Given the description of an element on the screen output the (x, y) to click on. 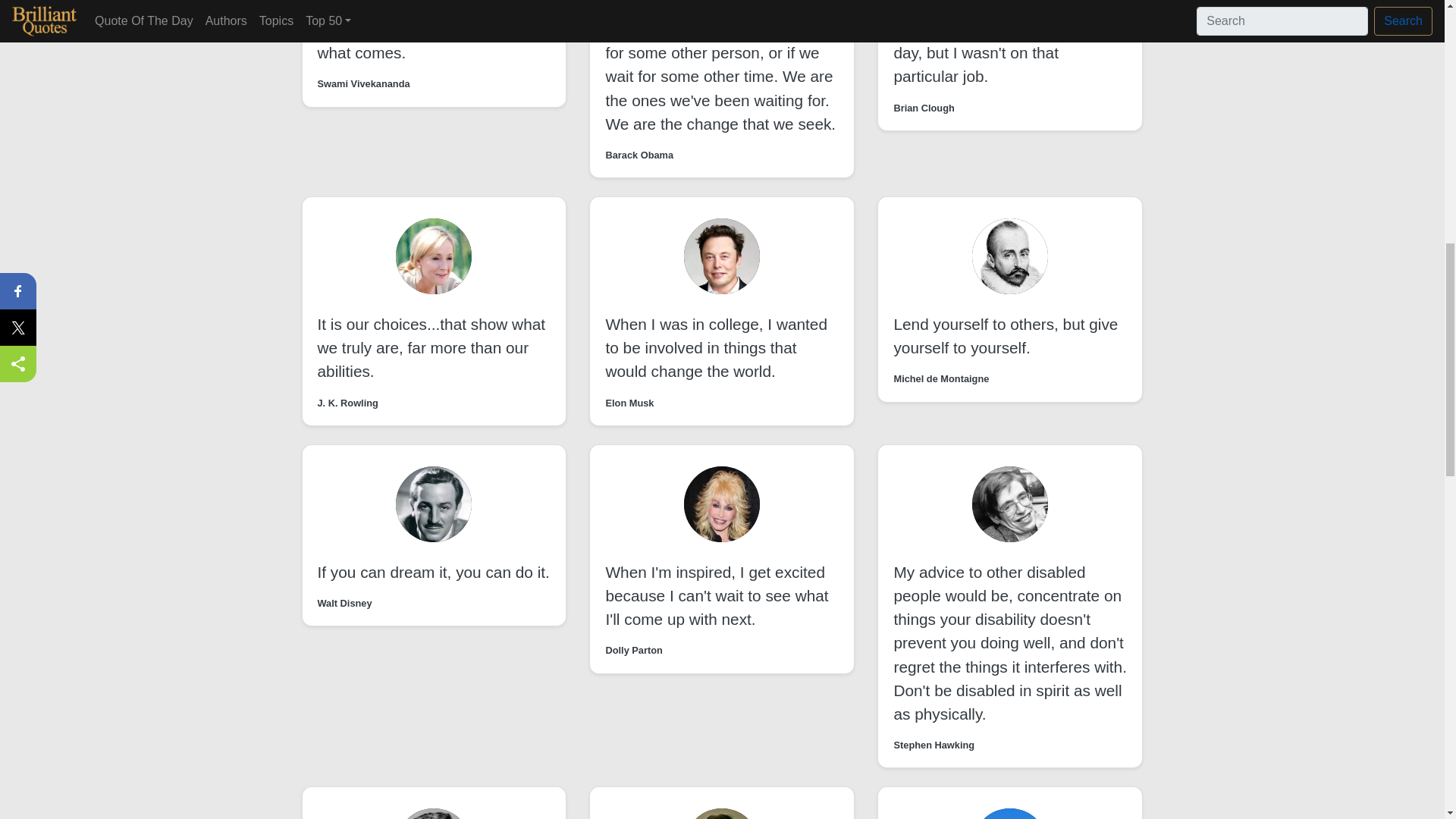
J. K. Rowling (347, 402)
Swami Vivekananda (363, 83)
Brian Clough (923, 107)
If you can dream it, you can do it. (432, 571)
Elon Musk (629, 402)
Michel de Montaigne (940, 378)
Lend yourself to others, but give yourself to yourself. (1005, 335)
Neither seek nor avoid, take what comes. (415, 40)
Barack Obama (638, 155)
Walt Disney (344, 603)
